Given the description of an element on the screen output the (x, y) to click on. 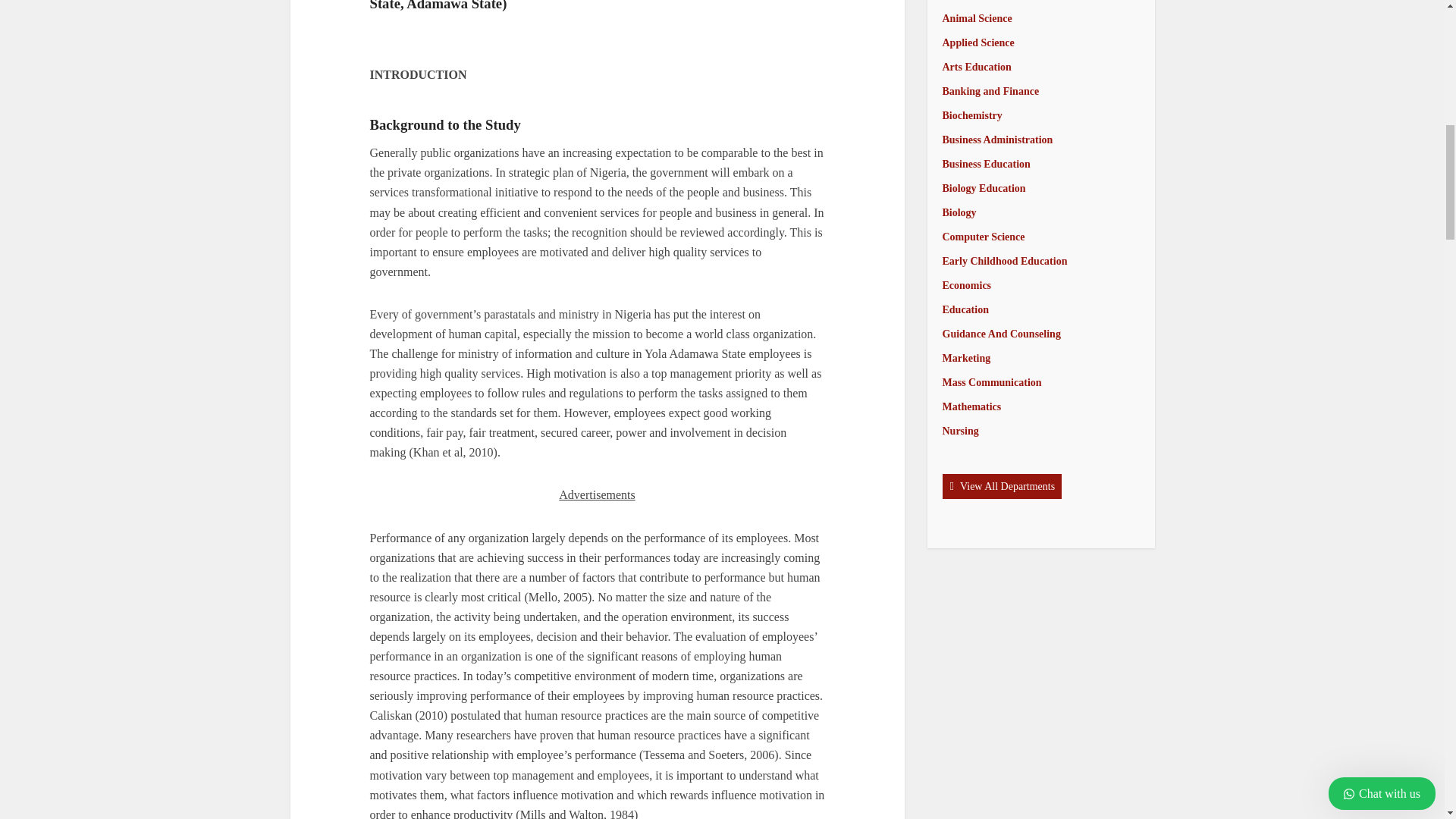
Arts Education (976, 66)
Banking and Finance (990, 91)
Applied Science (977, 42)
Animal Science (976, 18)
